Given the description of an element on the screen output the (x, y) to click on. 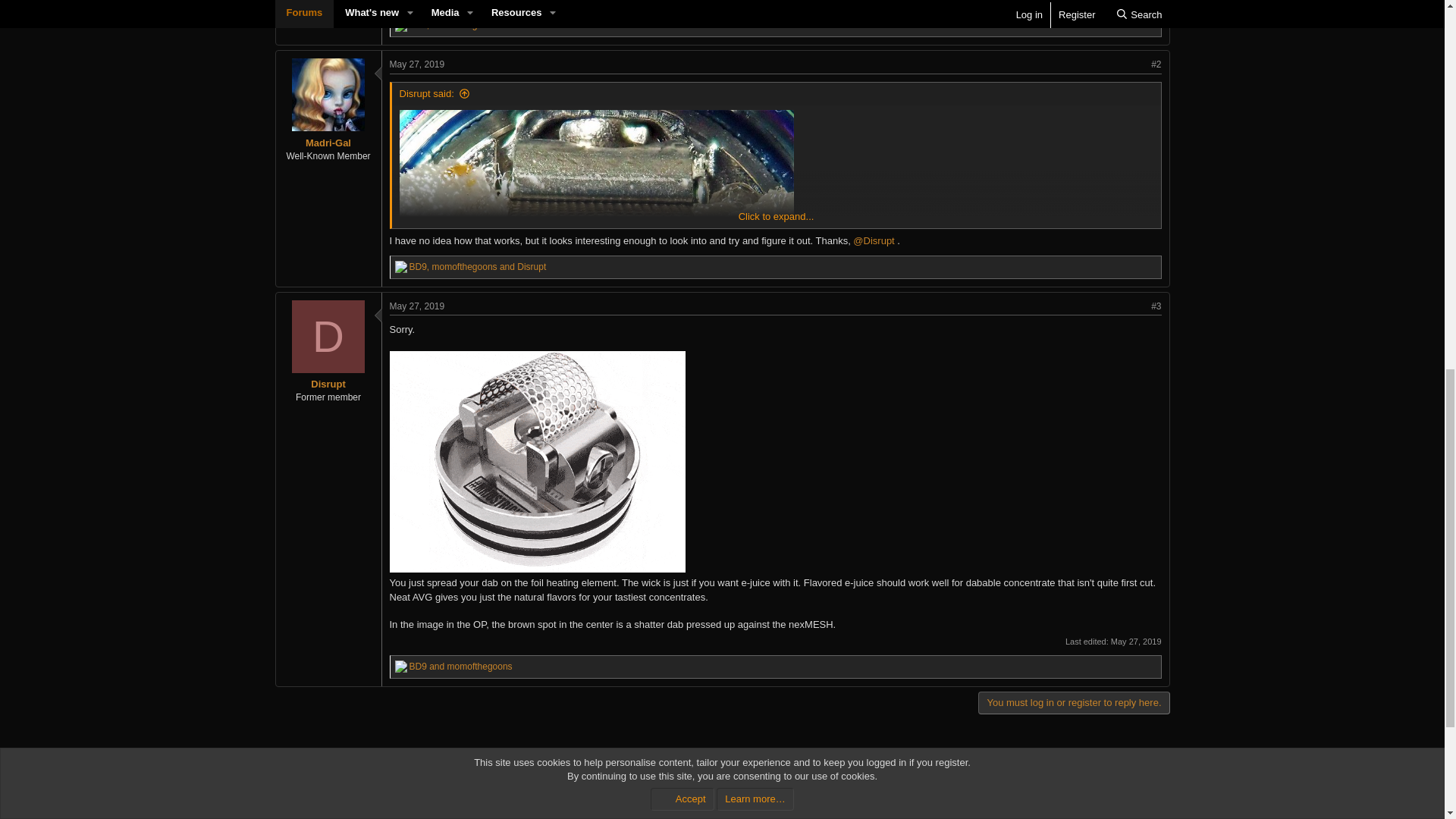
Like (400, 666)
May 27, 2019 at 4:52 PM (417, 306)
May 27, 2019 at 4:44 PM (417, 63)
Like (400, 266)
Like (400, 25)
ezgif-com-optimize.gif (617, 464)
May 27, 2019 at 6:01 PM (1135, 641)
